Given the description of an element on the screen output the (x, y) to click on. 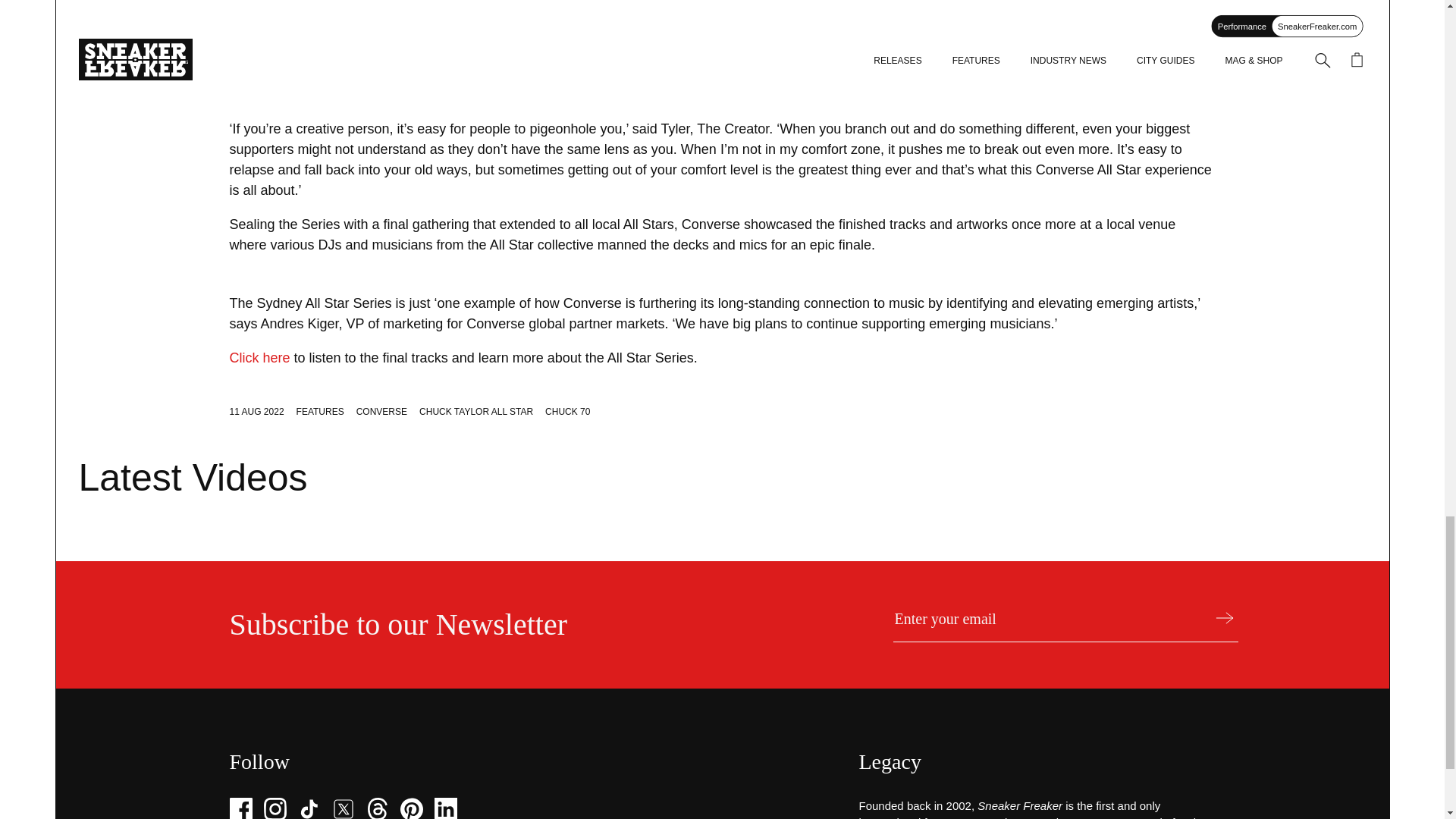
Click here (258, 357)
CONVERSE (381, 411)
CHUCK TAYLOR ALL STAR (475, 411)
FEATURES (320, 411)
CHUCK 70 (566, 411)
